Given the description of an element on the screen output the (x, y) to click on. 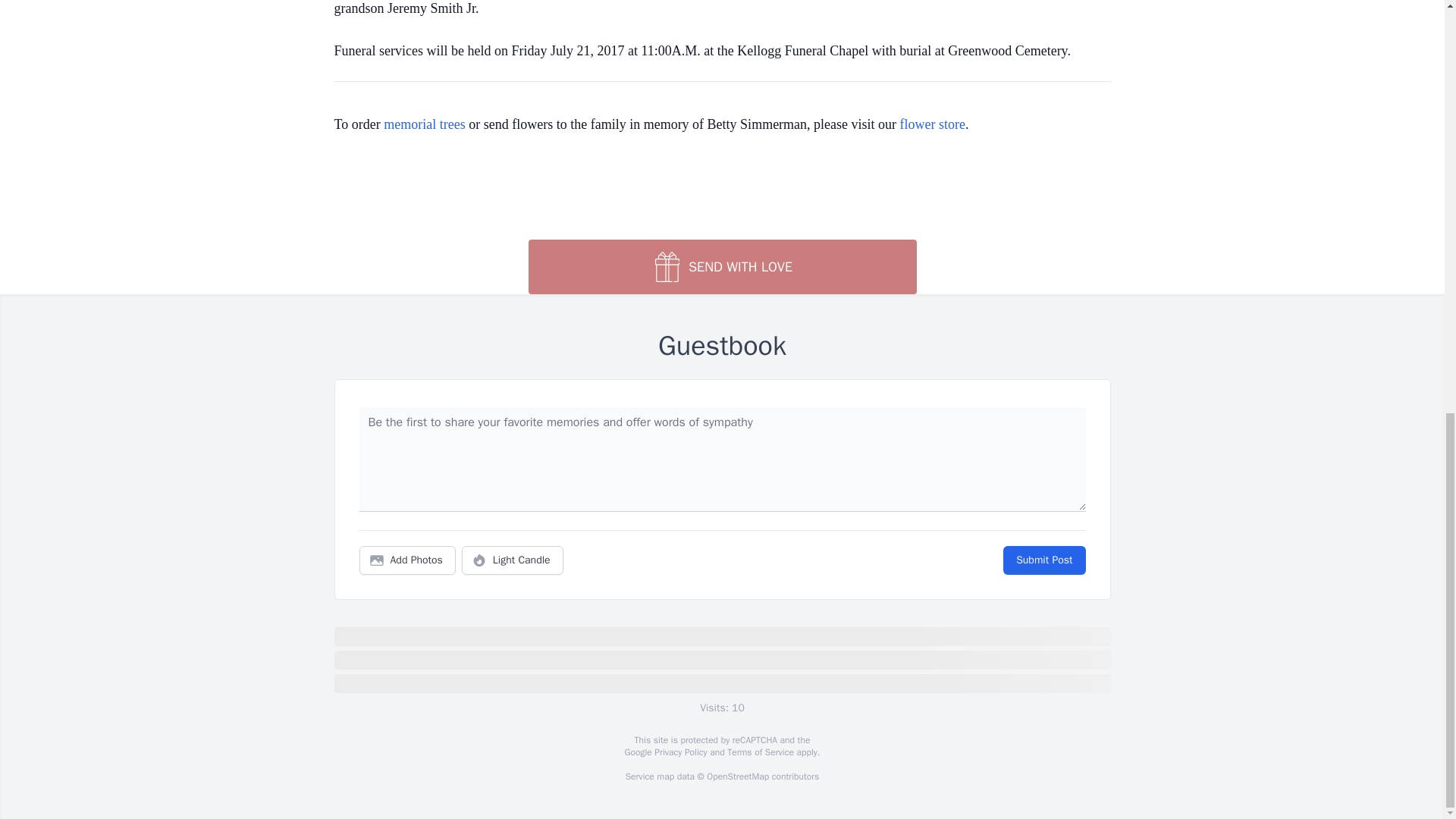
Terms of Service (759, 752)
Privacy Policy (679, 752)
OpenStreetMap (737, 776)
memorial trees (424, 124)
Light Candle (512, 560)
Add Photos (407, 560)
Submit Post (1043, 560)
SEND WITH LOVE (721, 266)
flower store (932, 124)
